Given the description of an element on the screen output the (x, y) to click on. 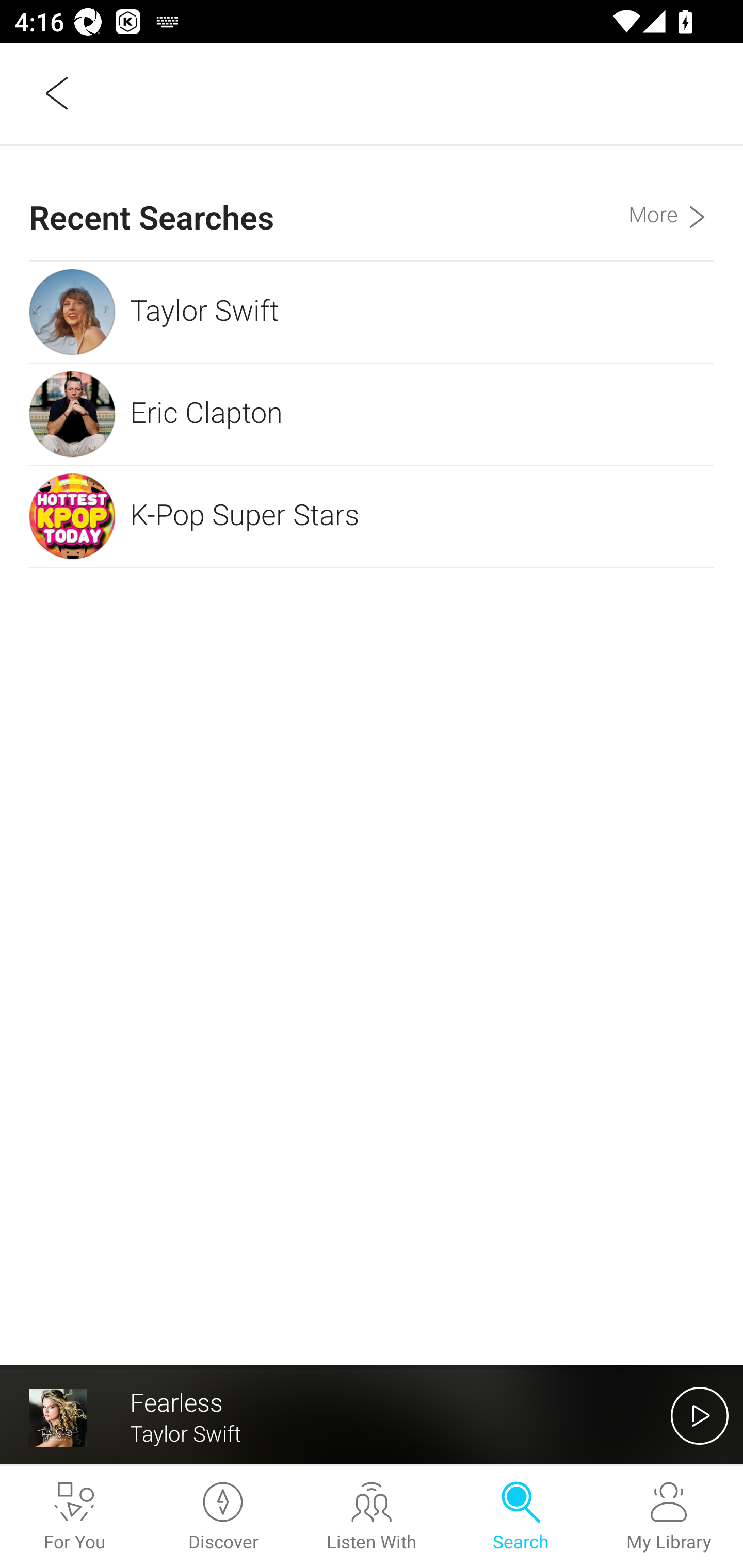
Back,outside of the list (57, 93)
More Recent Searches More (671, 202)
Taylor Swift (371, 311)
Eric Clapton (371, 413)
K-Pop Super Stars (371, 516)
開始播放 (699, 1415)
For You (74, 1517)
Discover (222, 1517)
Listen With (371, 1517)
Search (519, 1517)
My Library (668, 1517)
